Given the description of an element on the screen output the (x, y) to click on. 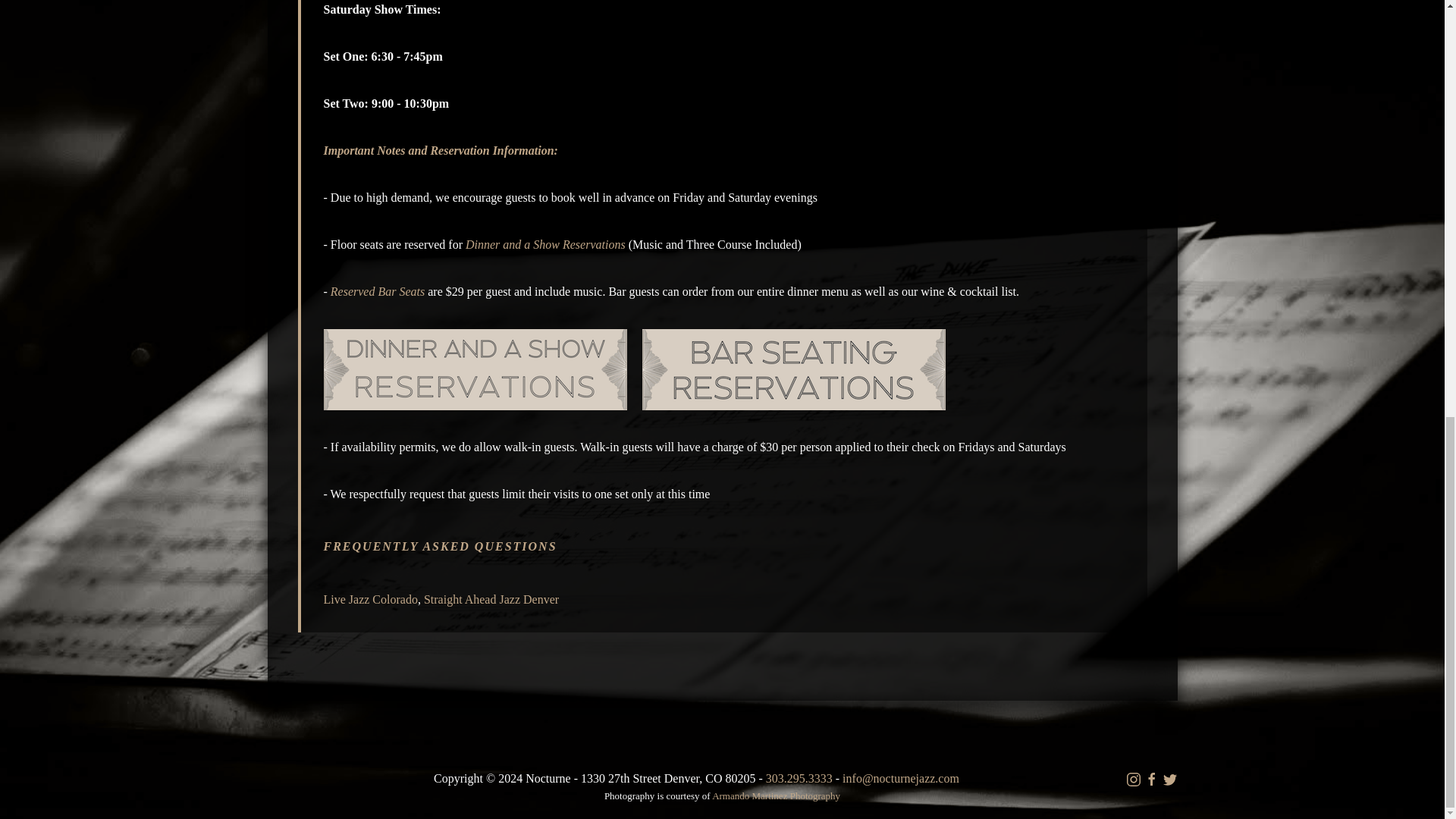
Bar Seating (793, 367)
Follow us on Instagram (1132, 779)
Facebook (1150, 779)
Twitter Link (1168, 779)
